Given the description of an element on the screen output the (x, y) to click on. 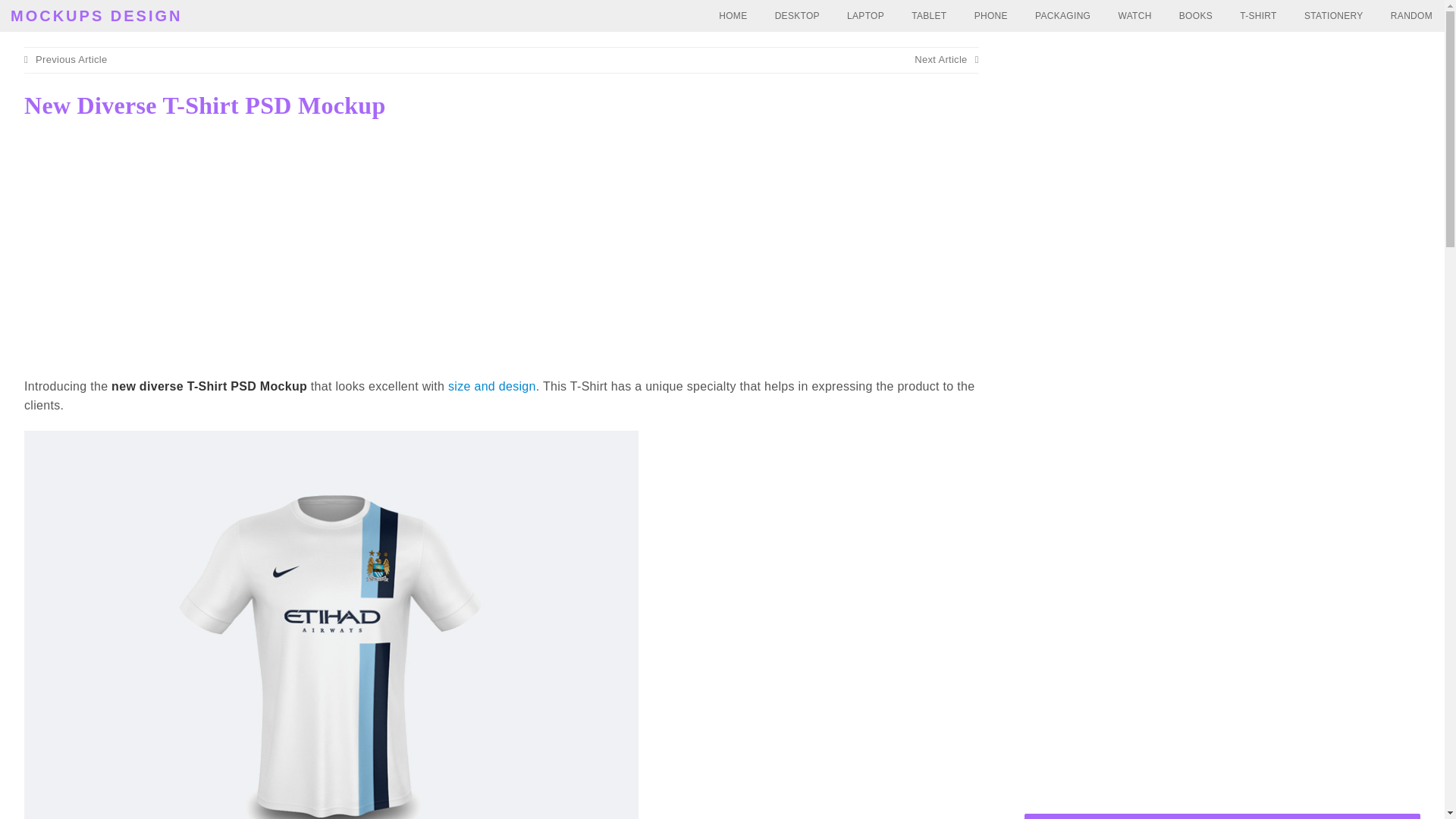
STATIONERY (1333, 15)
DESKTOP (796, 15)
Previous Article (65, 59)
T-SHIRT (1257, 15)
size and design (491, 386)
BOOKS (1195, 15)
MOCKUPS DESIGN (96, 15)
HOME (732, 15)
PACKAGING (1062, 15)
Next Article (946, 59)
mockups design (96, 15)
PHONE (991, 15)
LAPTOP (865, 15)
WATCH (1134, 15)
